Given the description of an element on the screen output the (x, y) to click on. 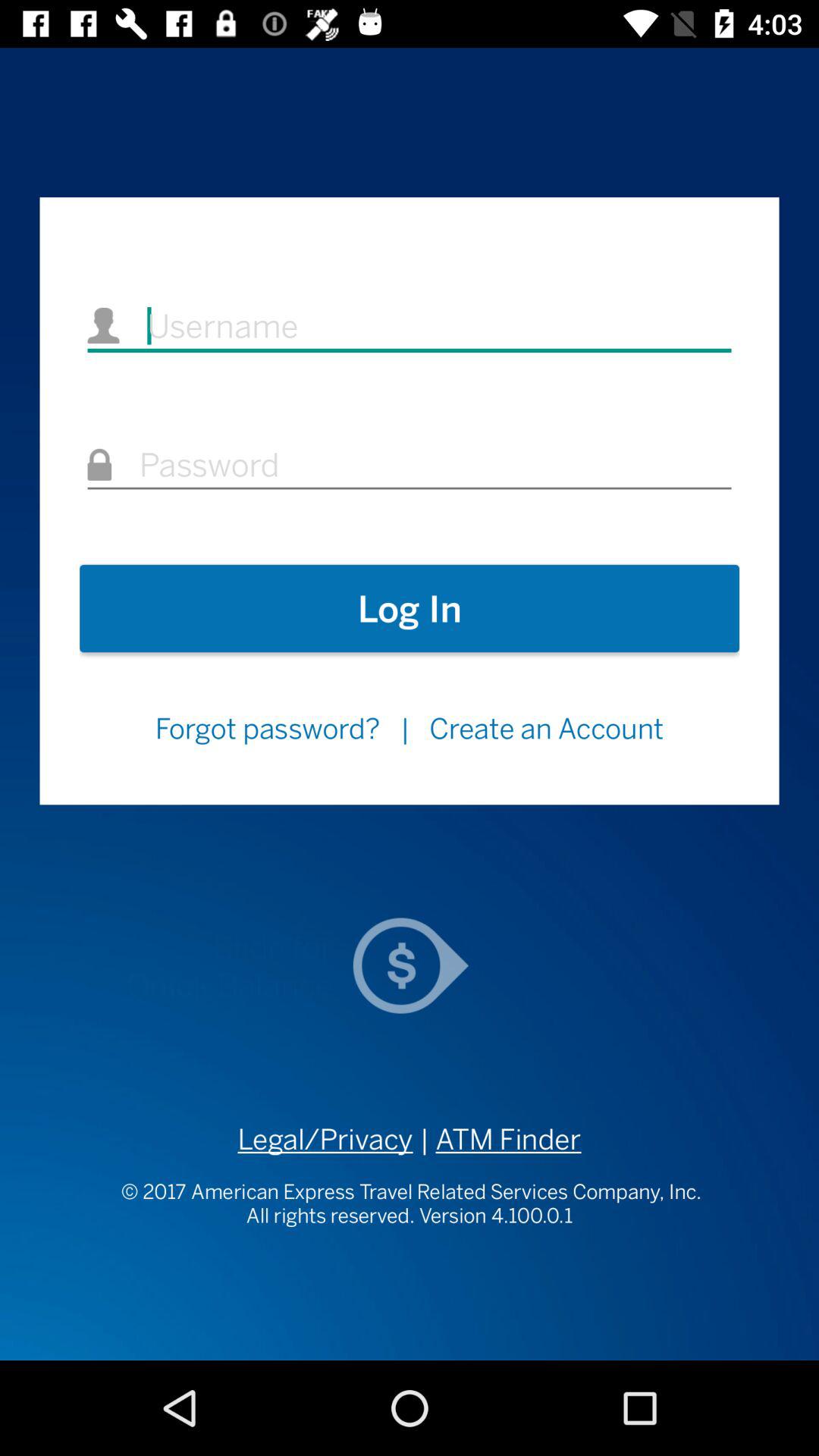
turn on the icon above the forgot password? item (409, 608)
